Given the description of an element on the screen output the (x, y) to click on. 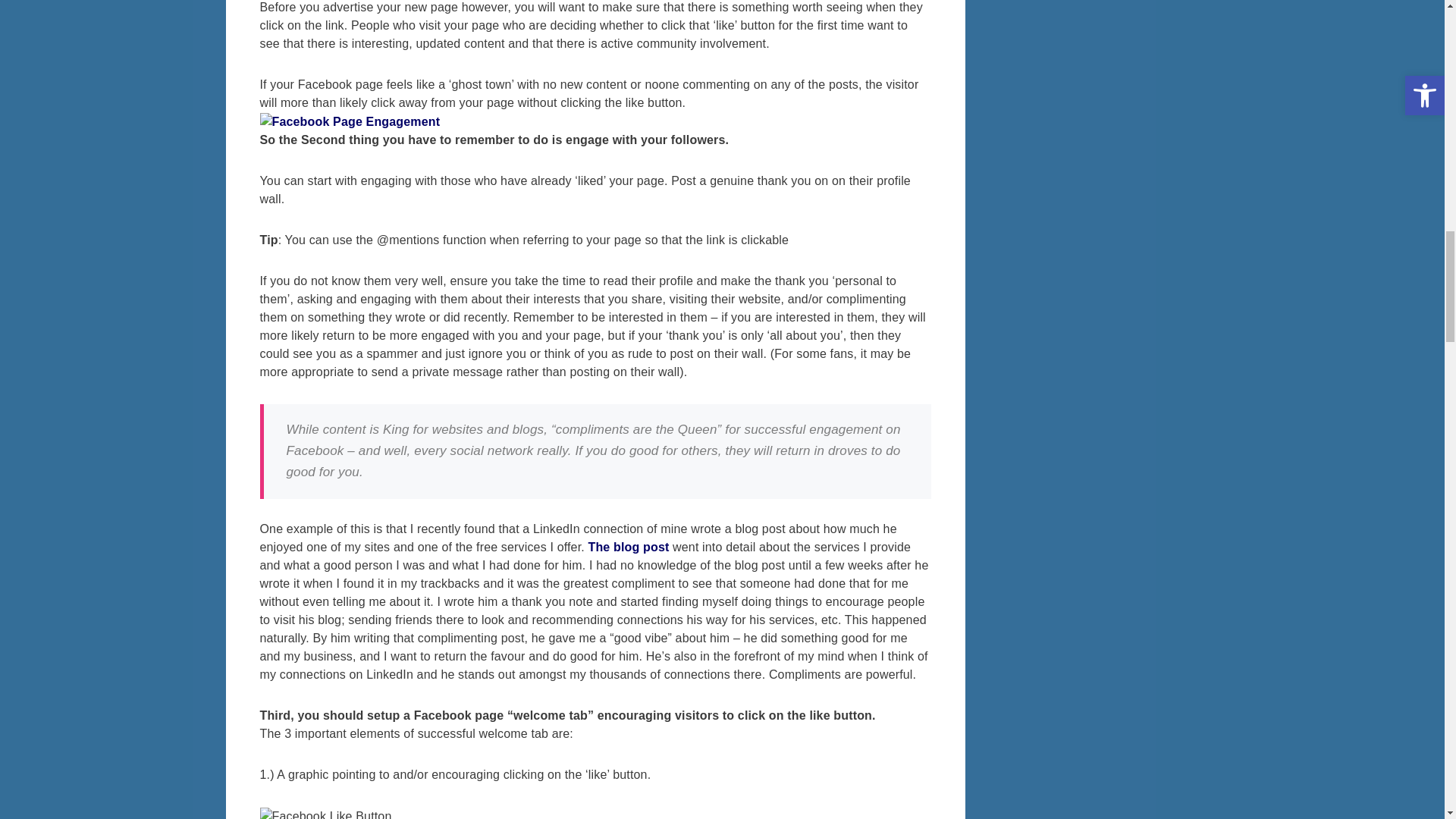
Brad Attig Blog  (628, 546)
Facebook WebWooky (349, 120)
The blog post (628, 546)
